Given the description of an element on the screen output the (x, y) to click on. 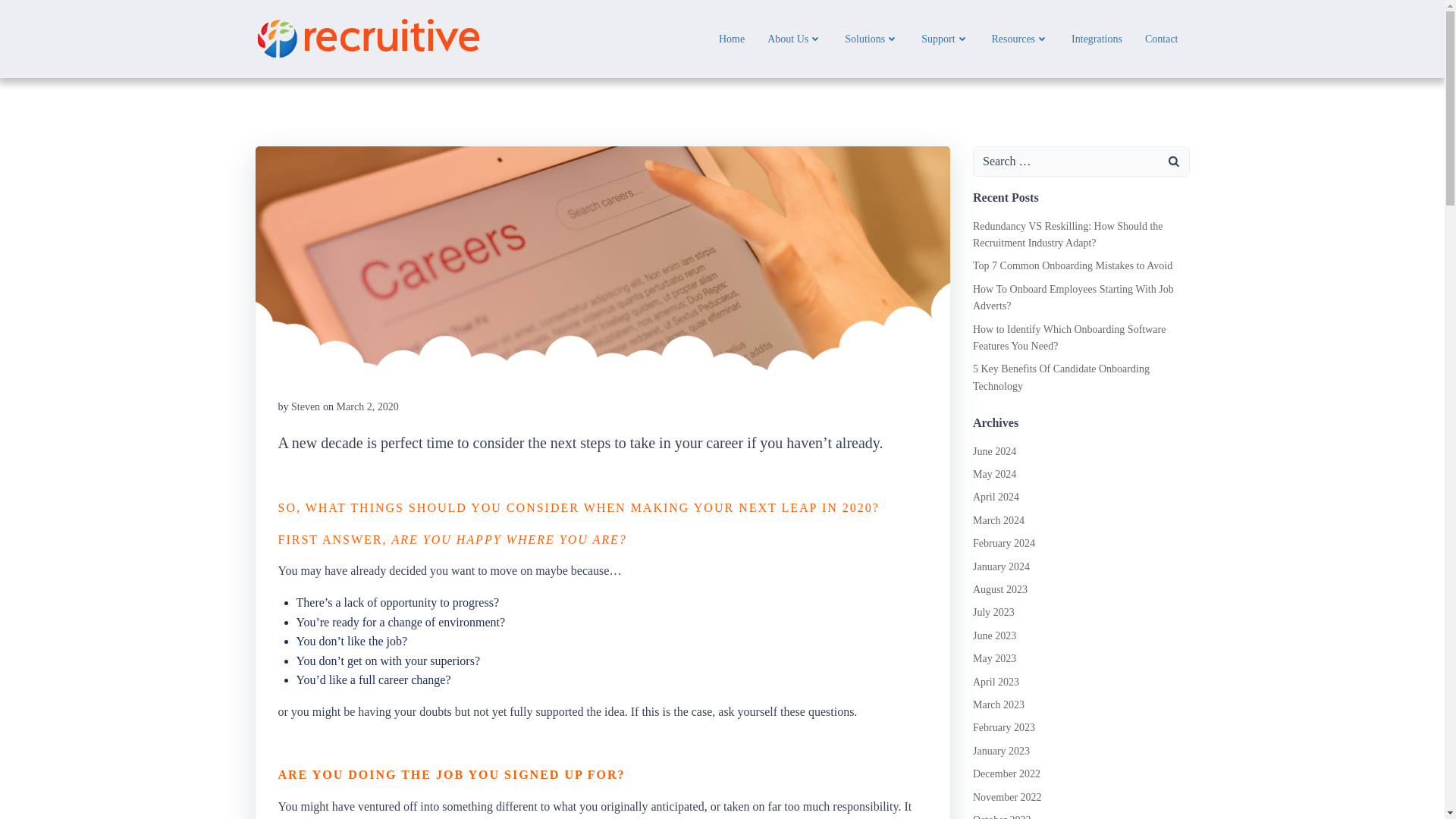
Home (731, 38)
Integrations (1096, 38)
About Us (794, 38)
Support (944, 38)
Contact (1160, 38)
Resources (1020, 38)
March 2, 2020 (367, 406)
Steven (305, 406)
Solutions (871, 38)
